Given the description of an element on the screen output the (x, y) to click on. 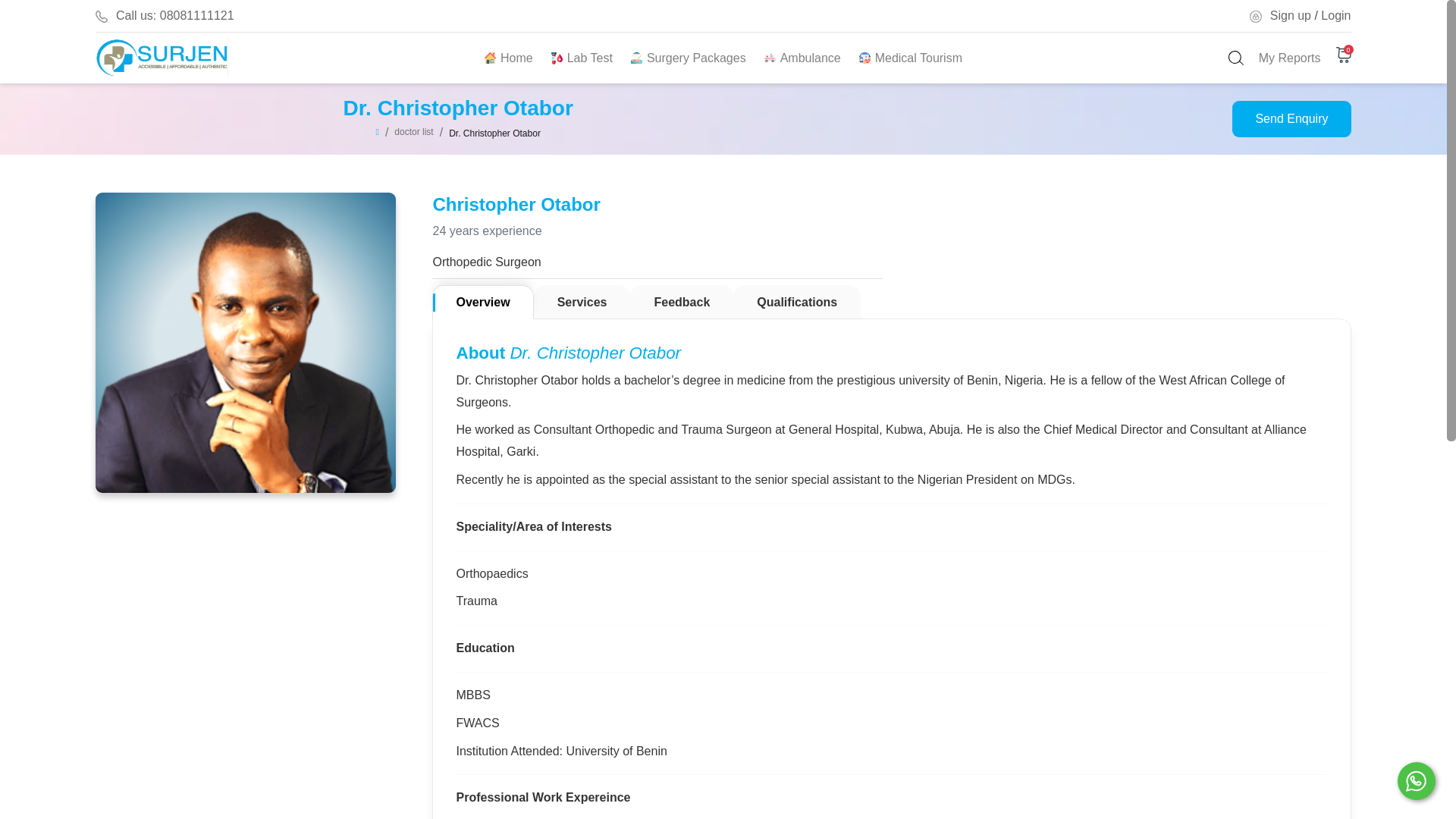
Call us (175, 15)
Services (582, 302)
Call us: 08081111121 (175, 15)
Login (1335, 15)
Home (508, 57)
Lab Test (582, 57)
doctor list (413, 133)
My Reports (1289, 57)
Qualifications (796, 302)
Feedback (681, 302)
Ambulance (802, 57)
Dr. Christopher Otabor (494, 132)
Medical Tourism (910, 57)
Send Enquiry (1291, 118)
Sign up (1290, 15)
